Given the description of an element on the screen output the (x, y) to click on. 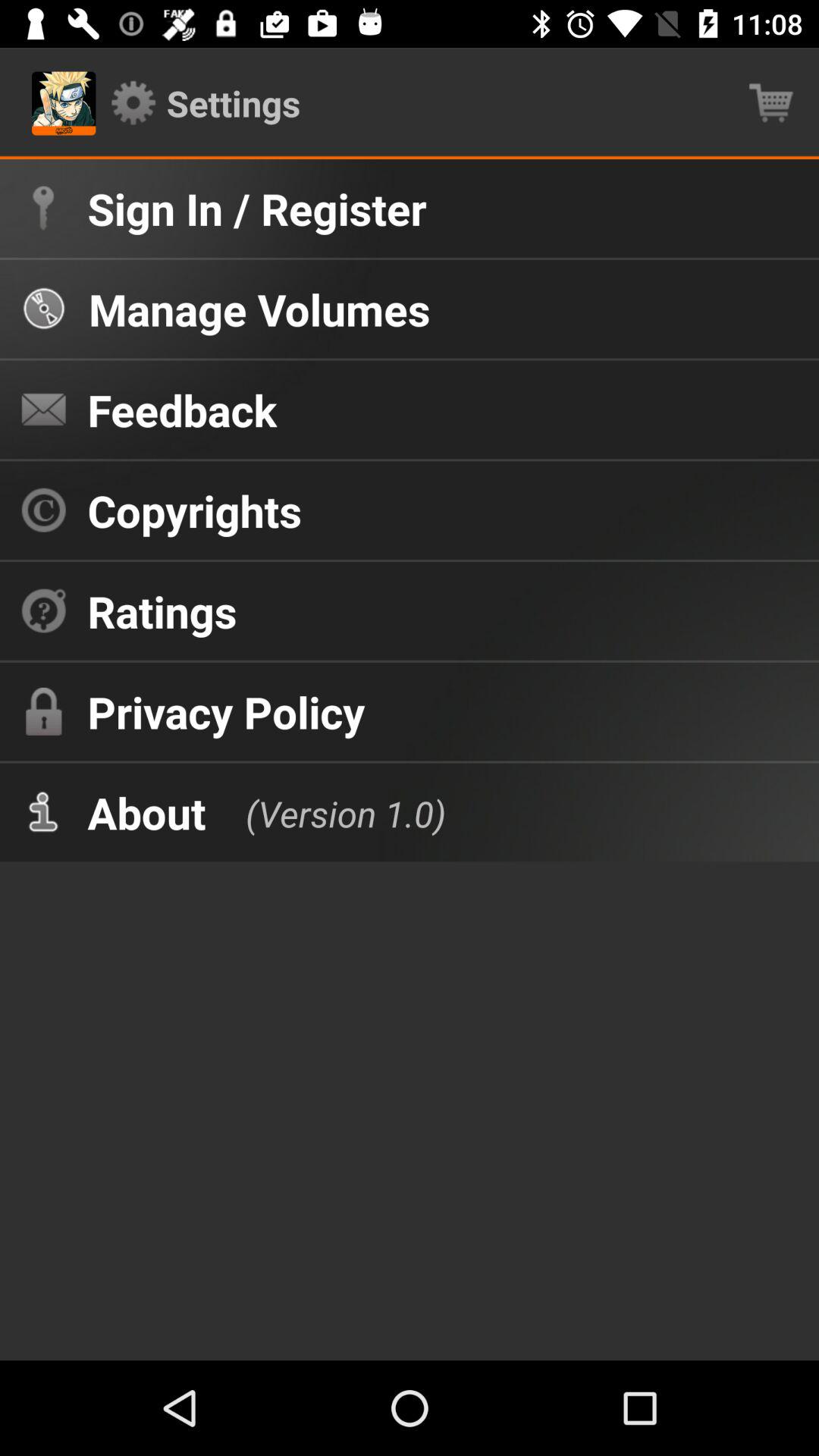
swipe until manage volumes icon (259, 308)
